Given the description of an element on the screen output the (x, y) to click on. 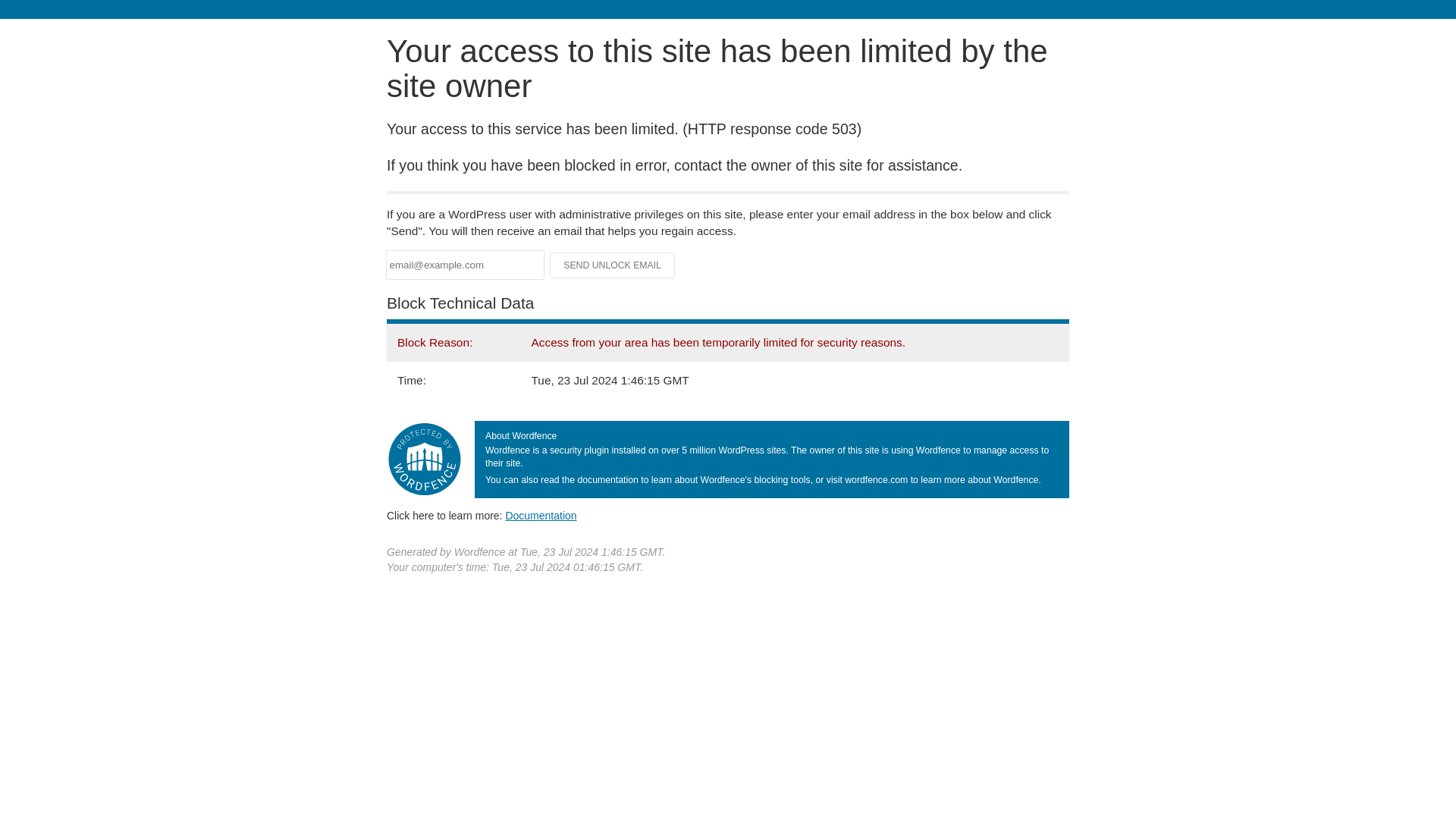
Send Unlock Email (612, 265)
Documentation (540, 515)
Send Unlock Email (612, 265)
